Given the description of an element on the screen output the (x, y) to click on. 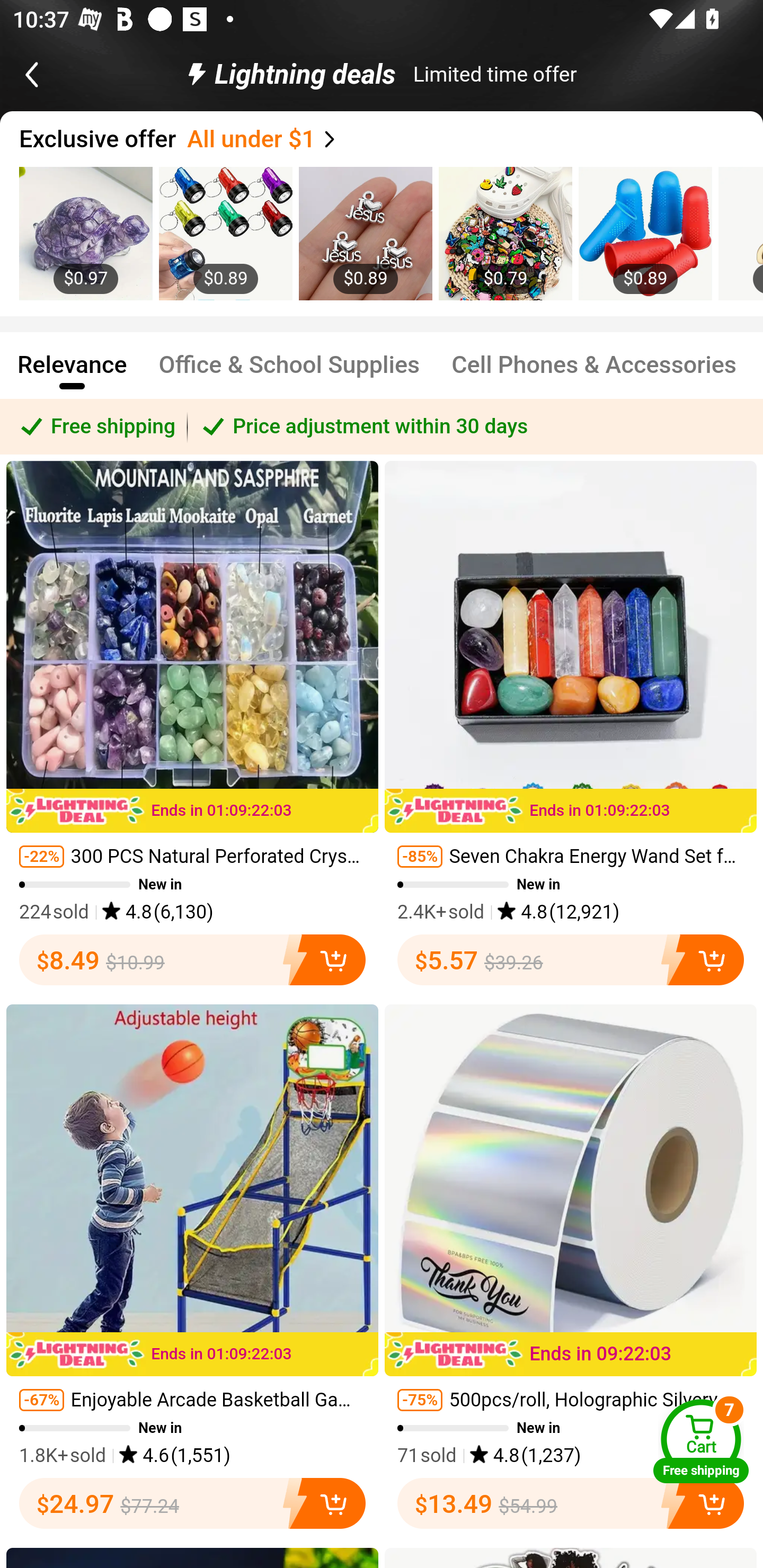
Exclusive offer All under $1 (391, 138)
Relevance (72, 373)
Office & School Supplies (289, 373)
Cell Phones & Accessories (594, 373)
Free shipping (94, 426)
Price adjustment within 30 days (475, 426)
$8.49 $10.99 (192, 959)
$5.57 $39.26 (570, 959)
Cart Free shipping Cart (701, 1440)
$24.97 $77.24 (192, 1503)
$13.49 $54.99 (570, 1503)
